Given the description of an element on the screen output the (x, y) to click on. 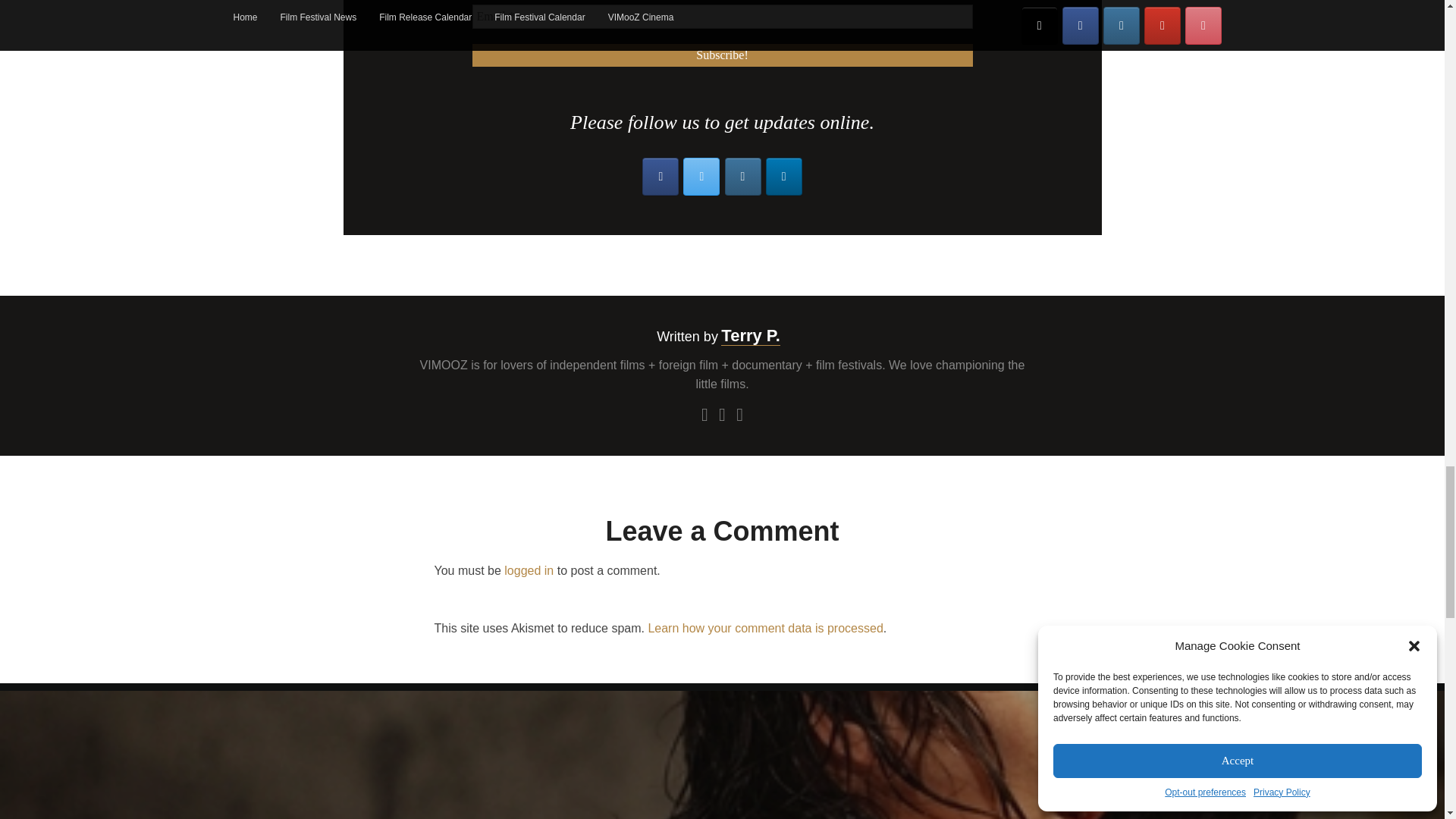
Subscribe! (721, 55)
